Given the description of an element on the screen output the (x, y) to click on. 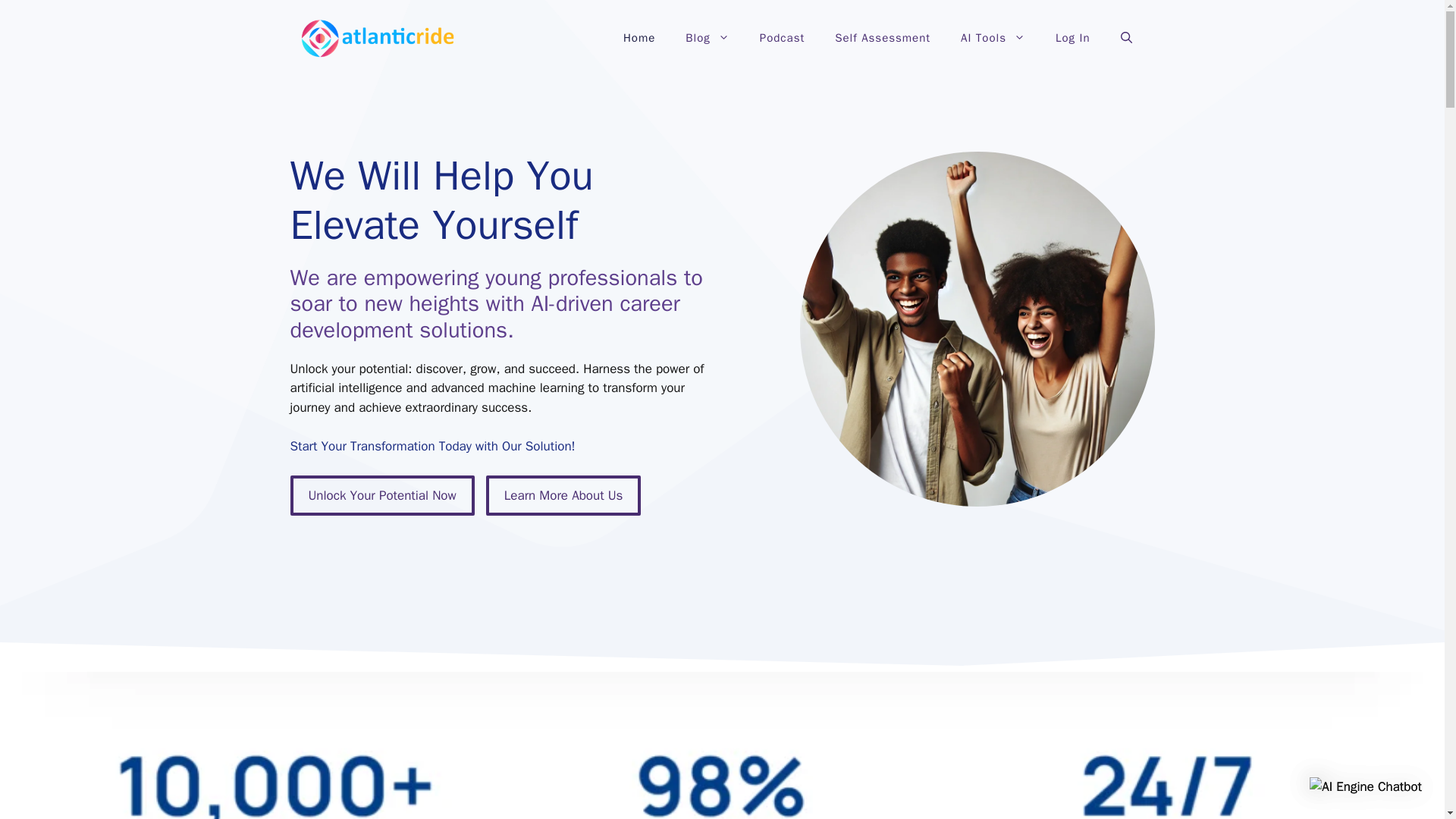
Unlock Your Potential Now (381, 495)
Home (638, 37)
Self Assessment (881, 37)
Learn More About Us (564, 495)
Blog (706, 37)
Podcast (781, 37)
AI Tools (992, 37)
Log In (1073, 37)
Home 1 (976, 328)
